Given the description of an element on the screen output the (x, y) to click on. 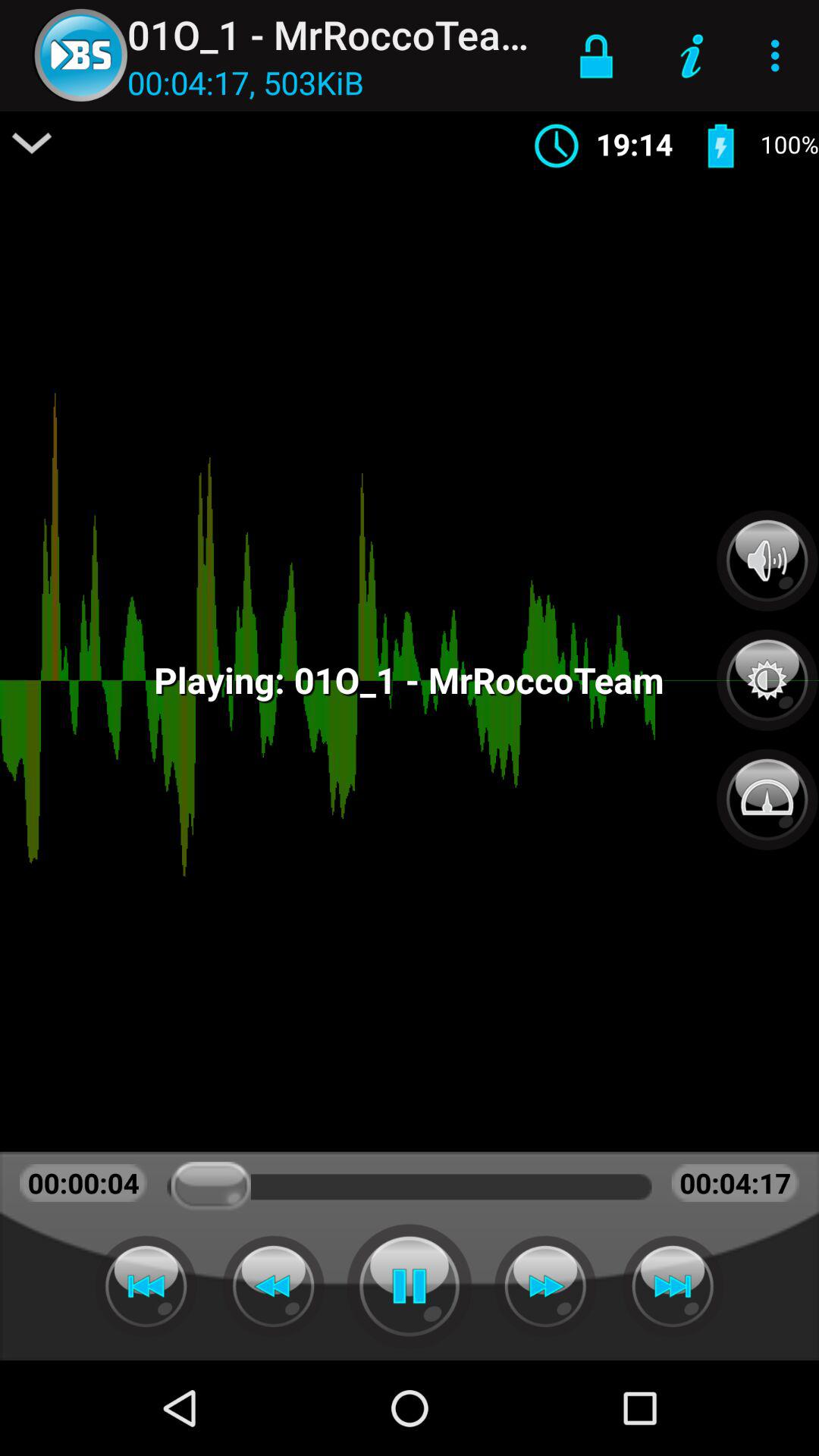
tap the app to the right of the 01o_1 - mrroccoteam icon (595, 55)
